Given the description of an element on the screen output the (x, y) to click on. 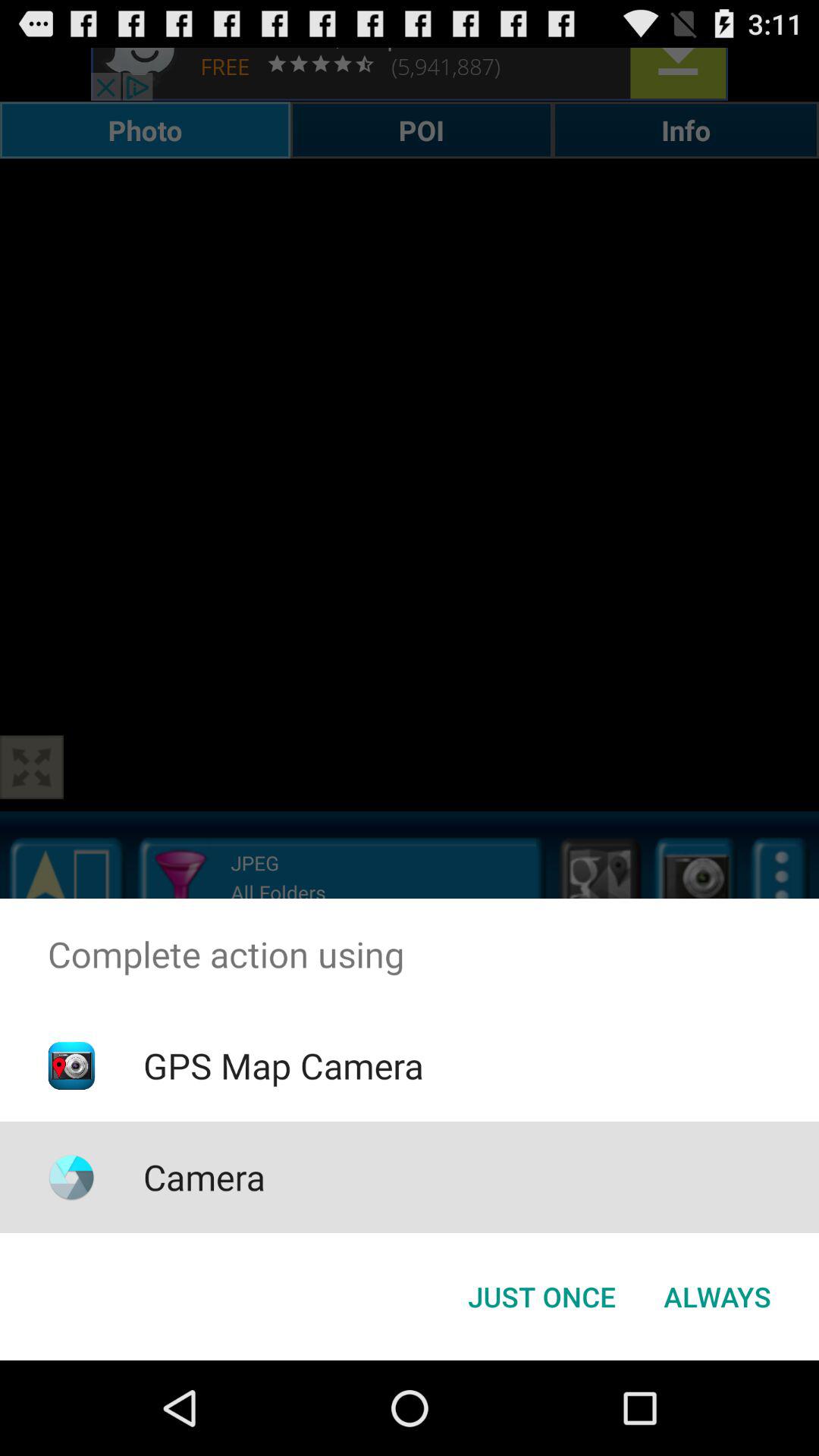
launch the icon below complete action using item (283, 1065)
